Given the description of an element on the screen output the (x, y) to click on. 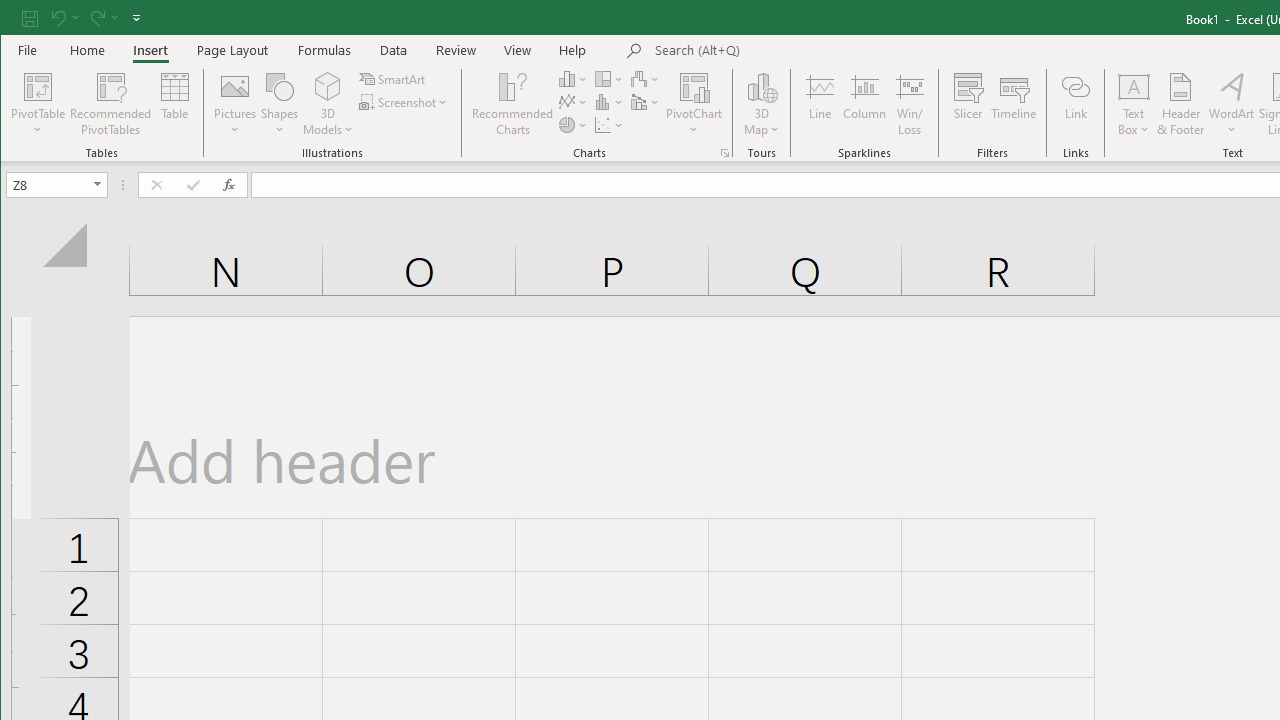
Text Box (1133, 104)
3D Models (327, 86)
WordArt (1231, 104)
Win/Loss (909, 104)
Timeline (1014, 104)
Insert Combo Chart (646, 101)
3D Map (762, 86)
3D Map (762, 104)
